Given the description of an element on the screen output the (x, y) to click on. 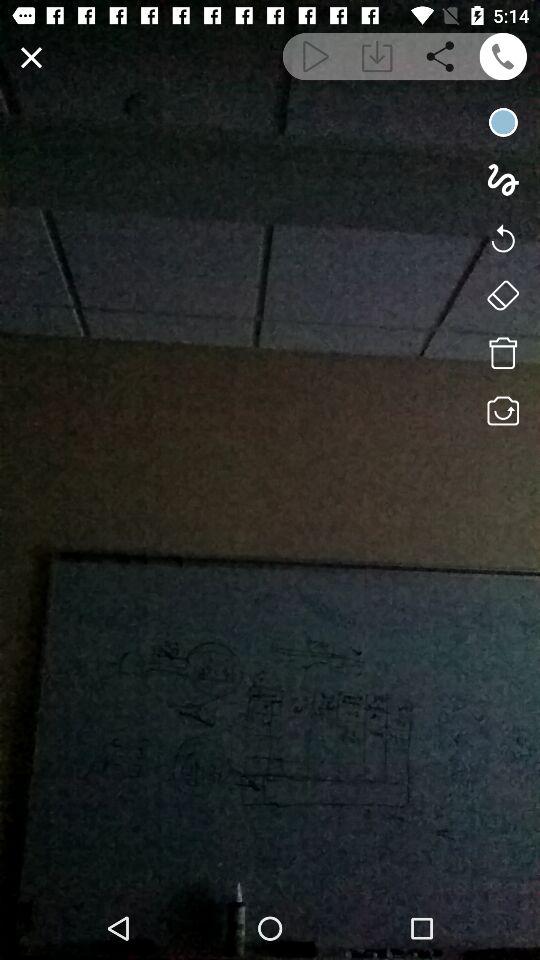
change brush color (502, 122)
